Given the description of an element on the screen output the (x, y) to click on. 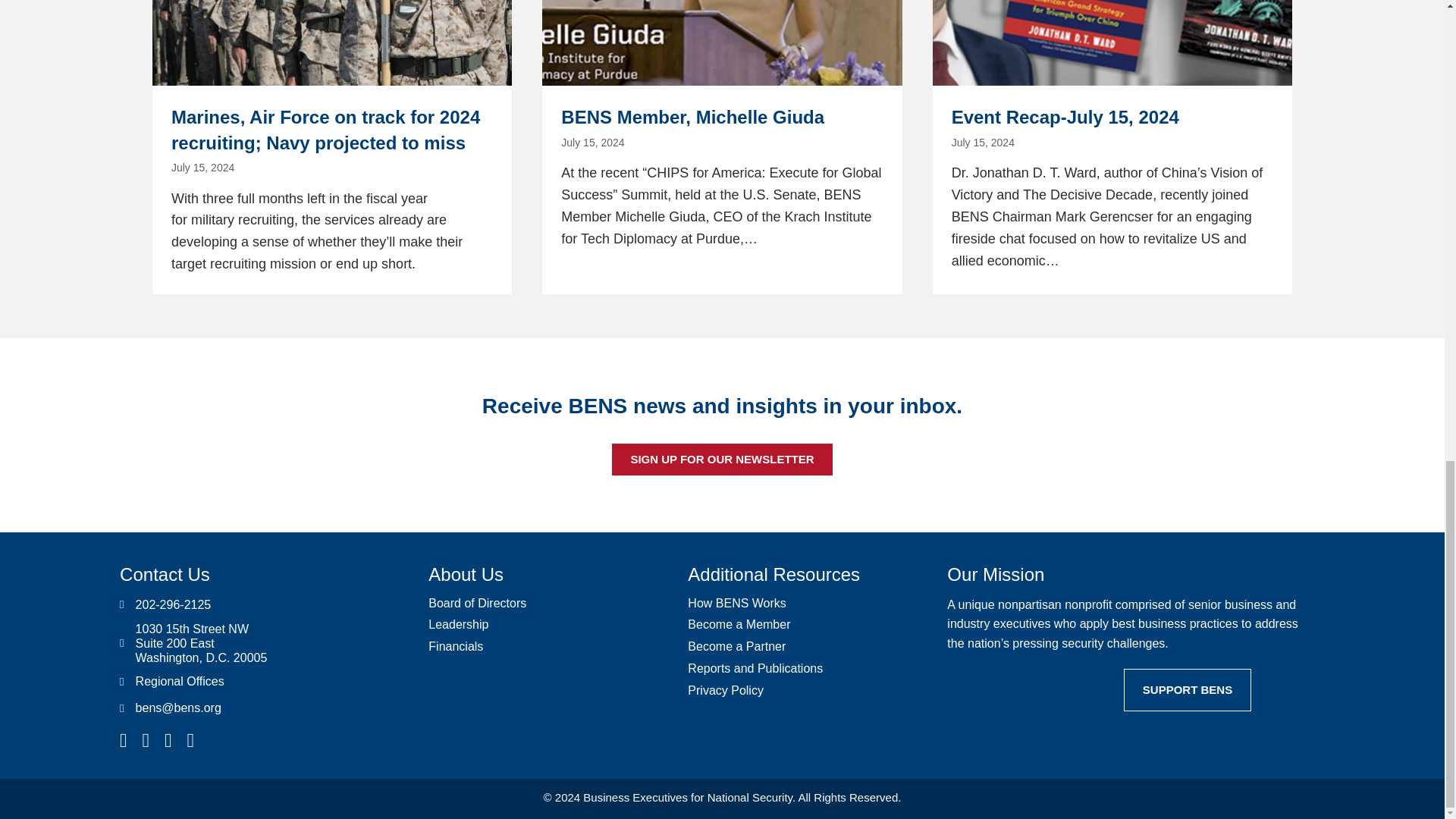
Our Mission (995, 574)
About Us (465, 574)
Event Recap-July 15, 2024 (1112, 147)
BENS Member, Michelle Giuda (721, 147)
Contact Us (164, 574)
